Given the description of an element on the screen output the (x, y) to click on. 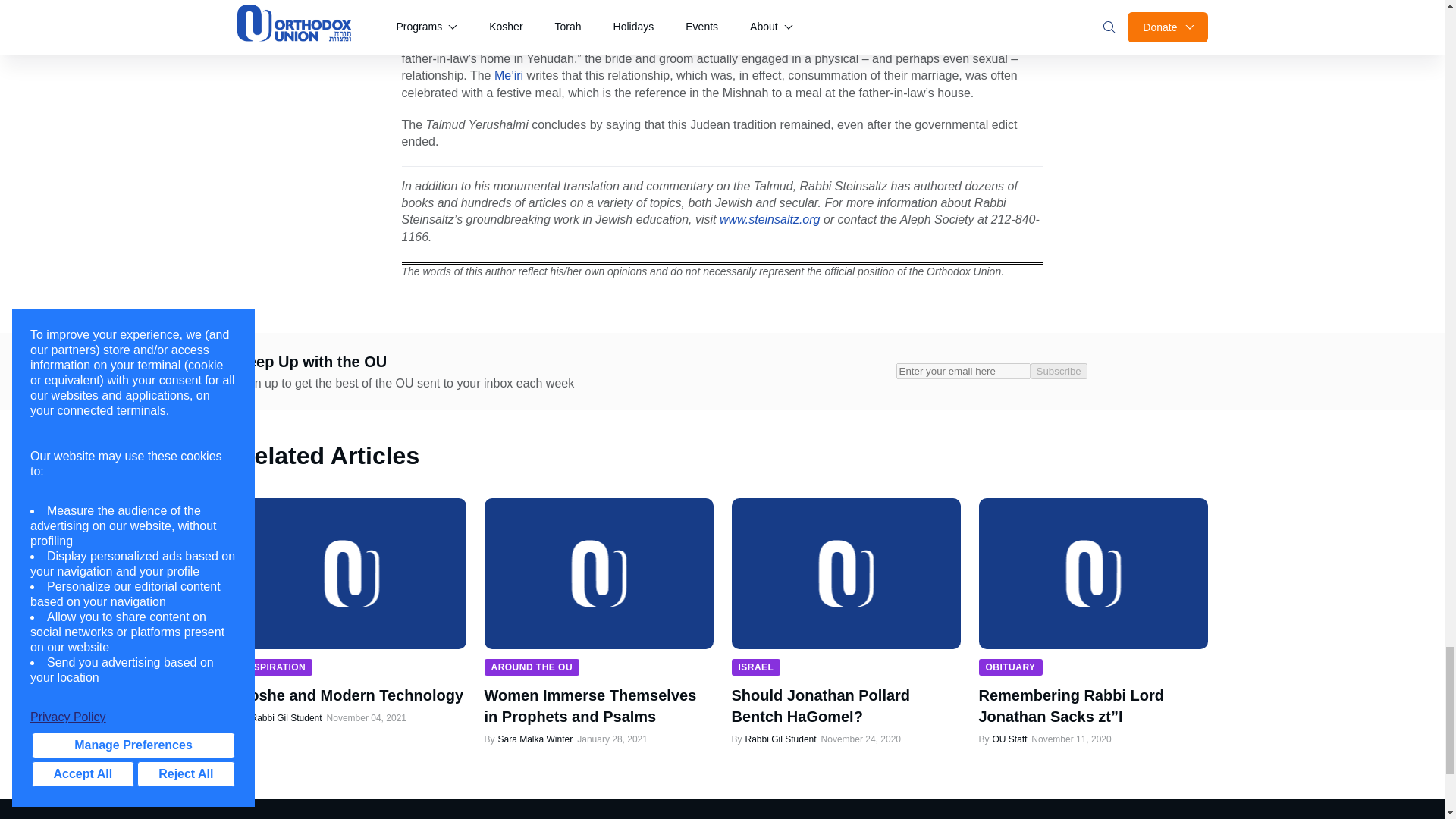
Posts by OU Staff (1009, 738)
Posts by Sara Malka Winter (534, 738)
Posts by Rabbi Gil Student (780, 738)
Posts by Rabbi Gil Student (284, 717)
